Given the description of an element on the screen output the (x, y) to click on. 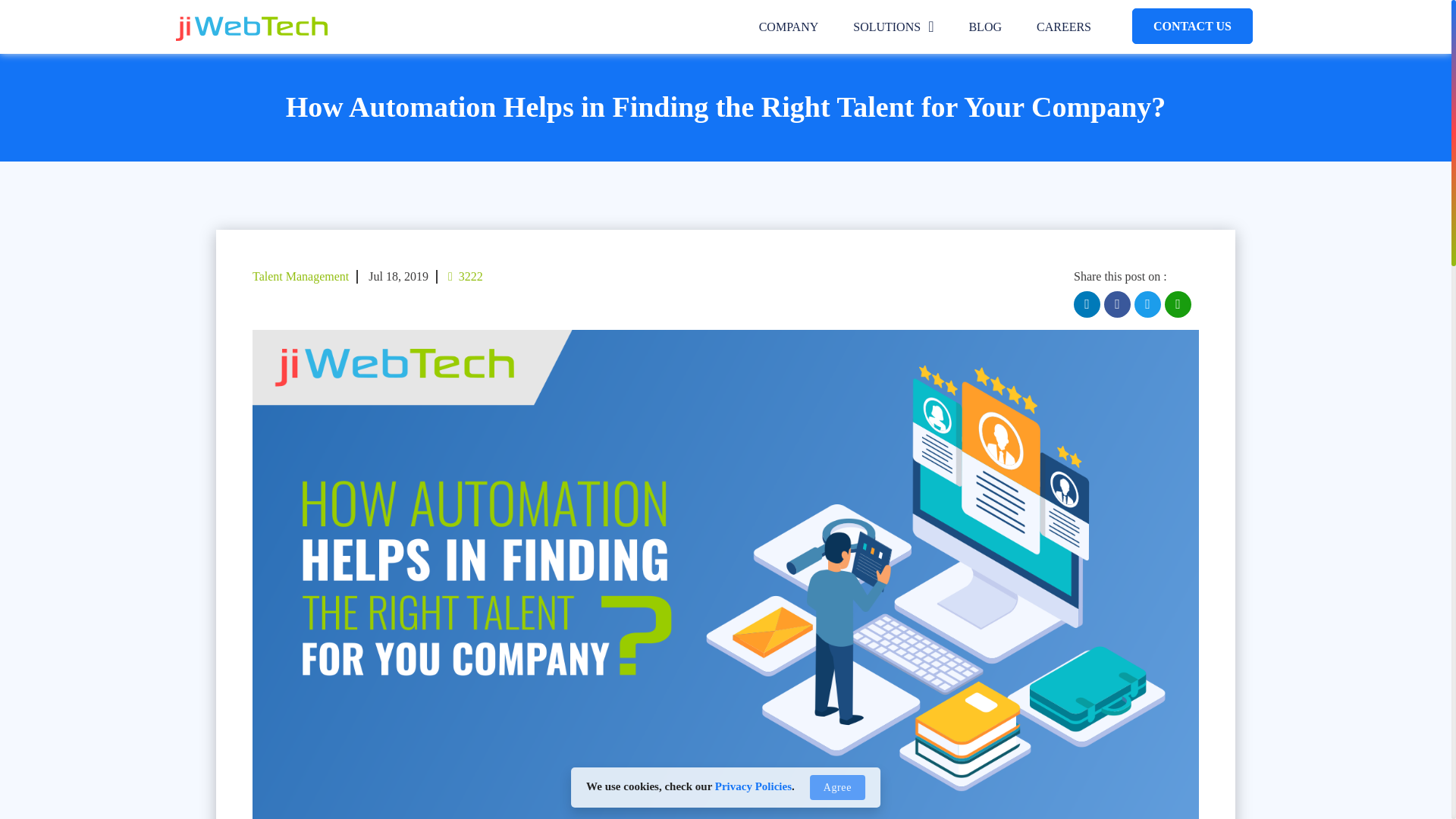
SOLUTIONS (893, 27)
COMPANY (788, 27)
